Given the description of an element on the screen output the (x, y) to click on. 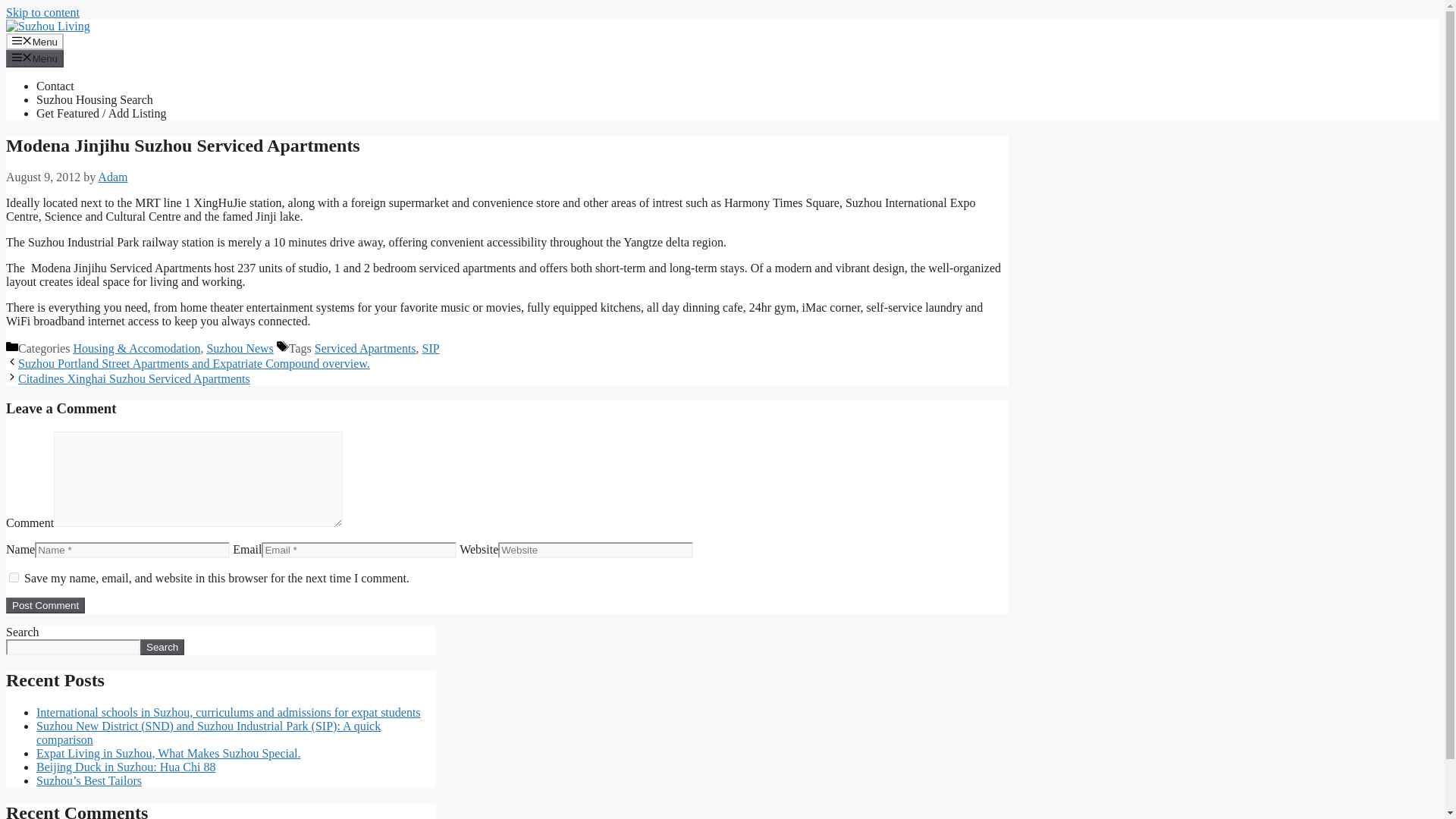
Menu (34, 41)
Adam (112, 176)
Expat Living in Suzhou, What Makes Suzhou Special. (168, 753)
Beijing Duck in Suzhou: Hua Chi 88 (125, 766)
Skip to content (42, 11)
Citadines Xinghai Suzhou Serviced Apartments (133, 378)
Search (161, 647)
Contact (55, 85)
Post Comment (44, 605)
